Given the description of an element on the screen output the (x, y) to click on. 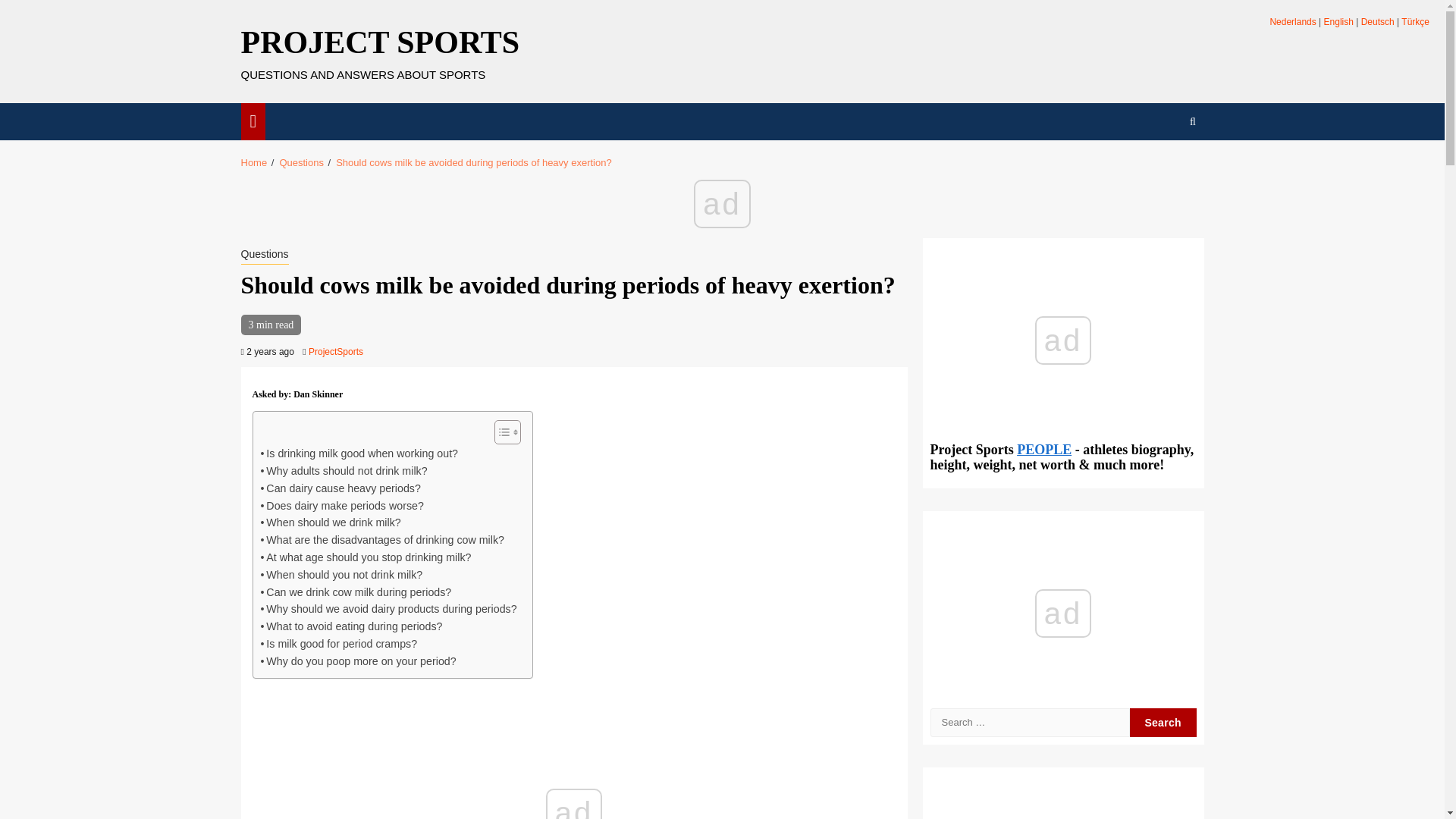
When should we drink milk? (330, 522)
Is drinking milk good when working out? (359, 453)
At what age should you stop drinking milk? (365, 557)
Does dairy make periods worse? (341, 506)
Home (254, 162)
Why should we avoid dairy products during periods? (388, 609)
What are the disadvantages of drinking cow milk? (382, 539)
Questions (264, 255)
ProjectSports (335, 351)
Deutsch (1377, 21)
At what age should you stop drinking milk? (365, 557)
Nederlands (1292, 21)
Can dairy cause heavy periods? (340, 488)
When should we drink milk? (330, 522)
